Given the description of an element on the screen output the (x, y) to click on. 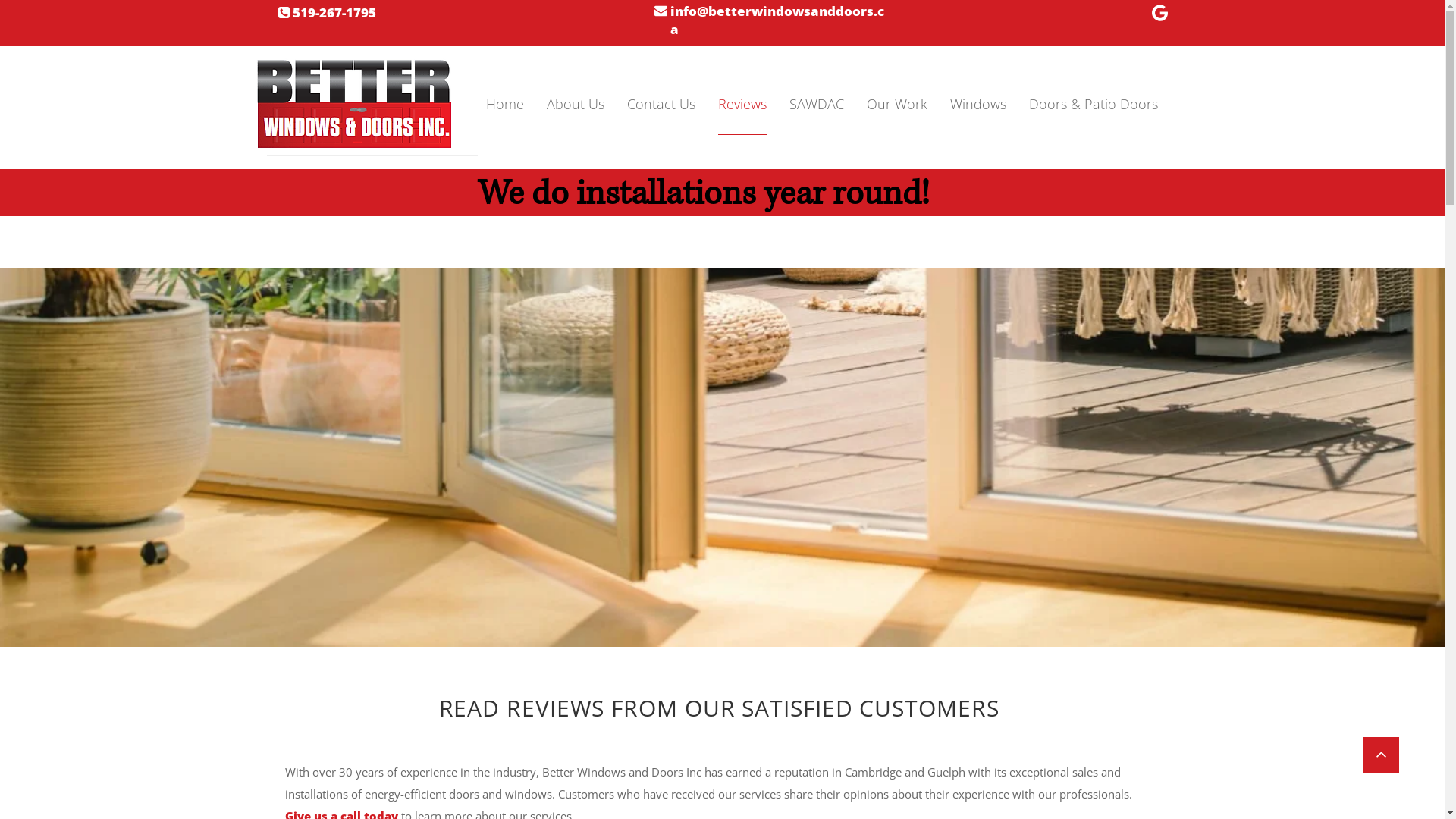
Reviews Element type: text (741, 103)
info@betterwindowsanddoors.ca Element type: text (777, 22)
Our Work Element type: text (896, 103)
SAWDAC Element type: text (815, 103)
Contact Us Element type: text (660, 103)
Windows Element type: text (977, 103)
Doors & Patio Doors Element type: text (1092, 103)
519-267-1795 Element type: text (334, 14)
Home Element type: text (504, 103)
About Us Element type: text (574, 103)
